Given the description of an element on the screen output the (x, y) to click on. 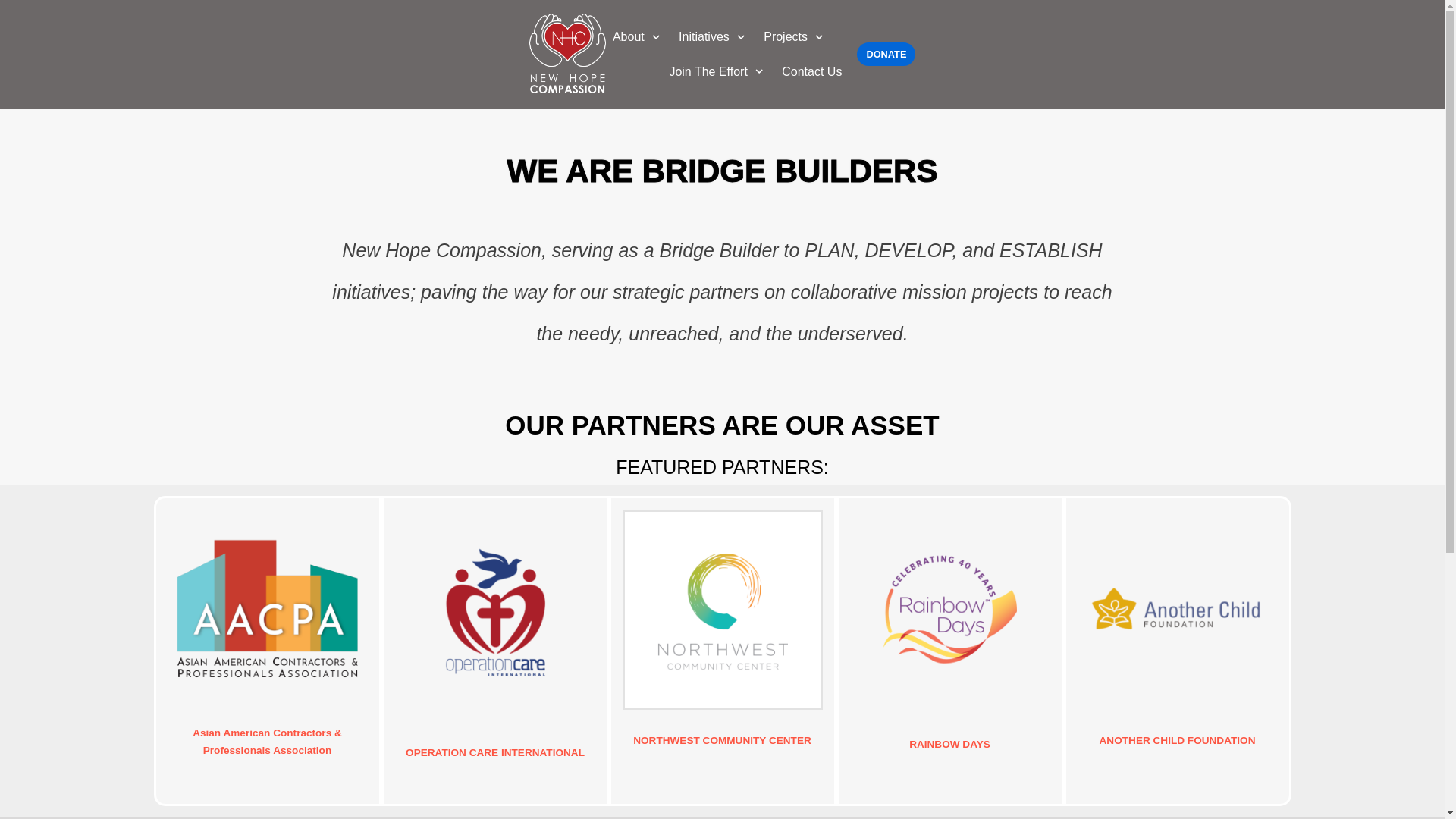
New Hope Compassion (567, 54)
Contact Us (811, 71)
Initiatives (713, 36)
About (637, 36)
Join The Effort (717, 71)
Skip to content (15, 31)
Projects (794, 36)
DONATE (886, 54)
